Given the description of an element on the screen output the (x, y) to click on. 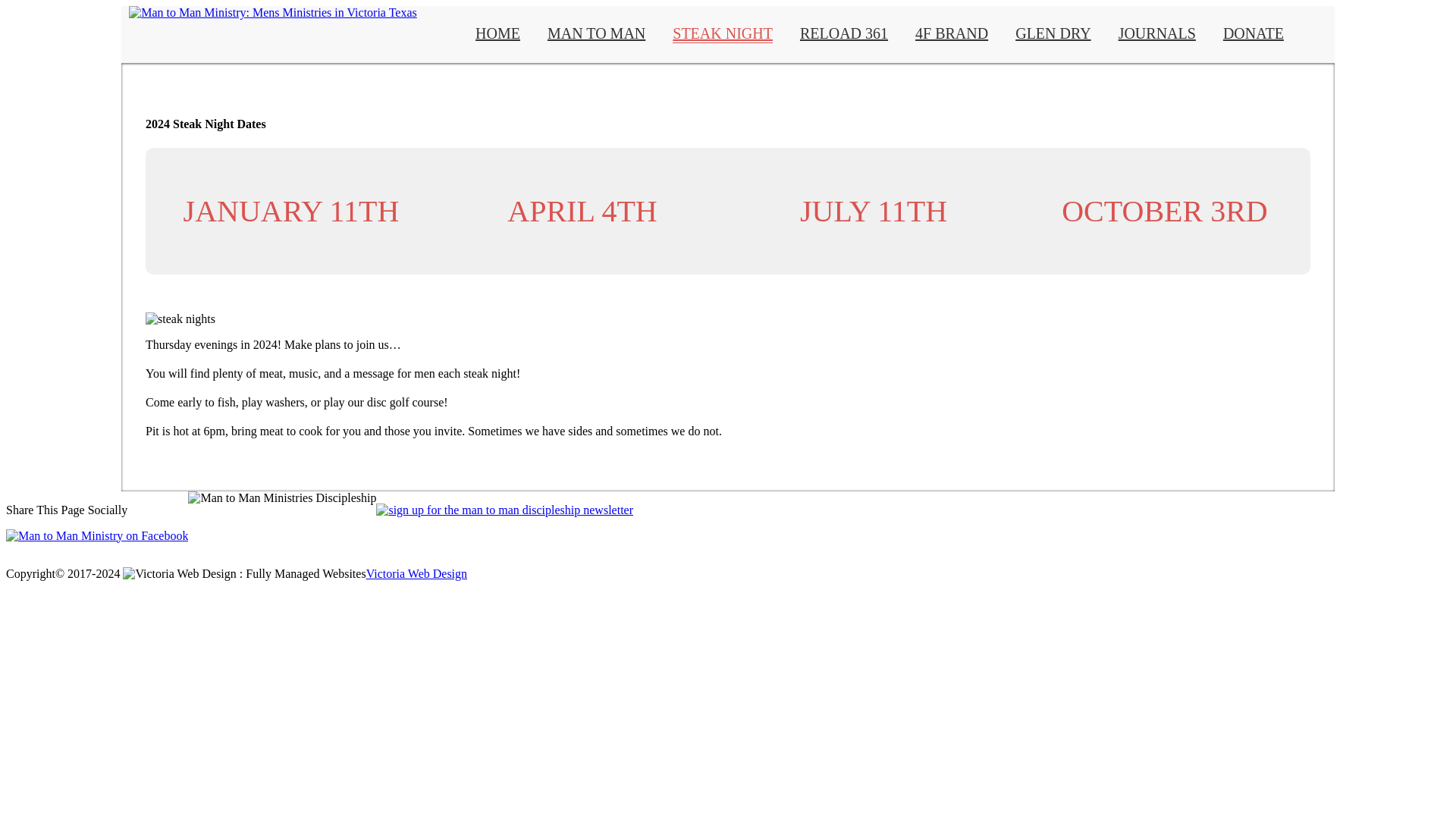
Man to Man Ministry: Mens Ministries in Victoria Texas (272, 12)
JOURNALS (1156, 33)
STEAK NIGHT (722, 34)
MAN TO MAN (596, 33)
RELOAD 361 (843, 33)
4F BRAND (951, 33)
DONATE (1253, 33)
HOME (497, 33)
GLEN DRY (1052, 33)
